Given the description of an element on the screen output the (x, y) to click on. 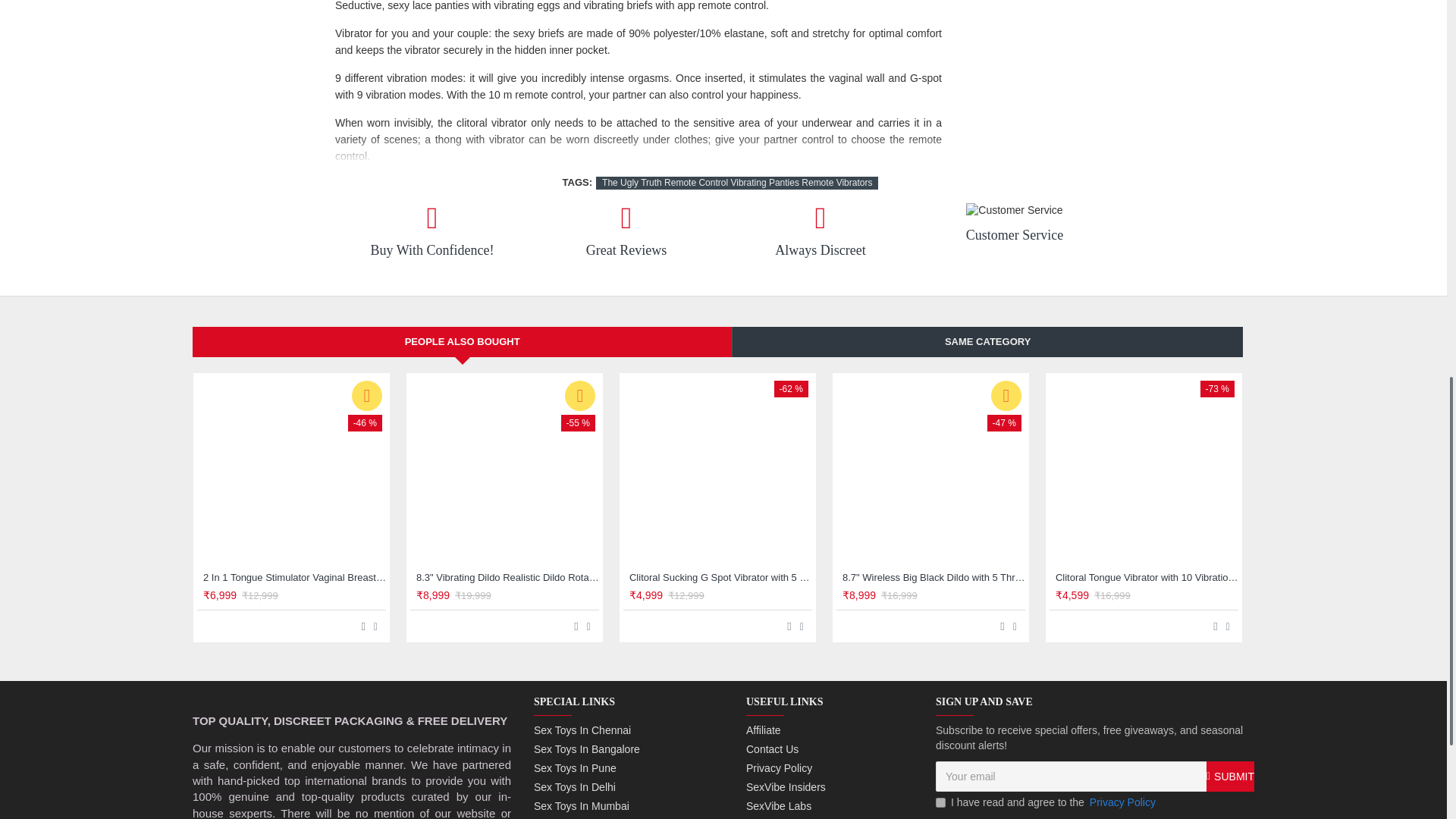
1 (940, 802)
